Given the description of an element on the screen output the (x, y) to click on. 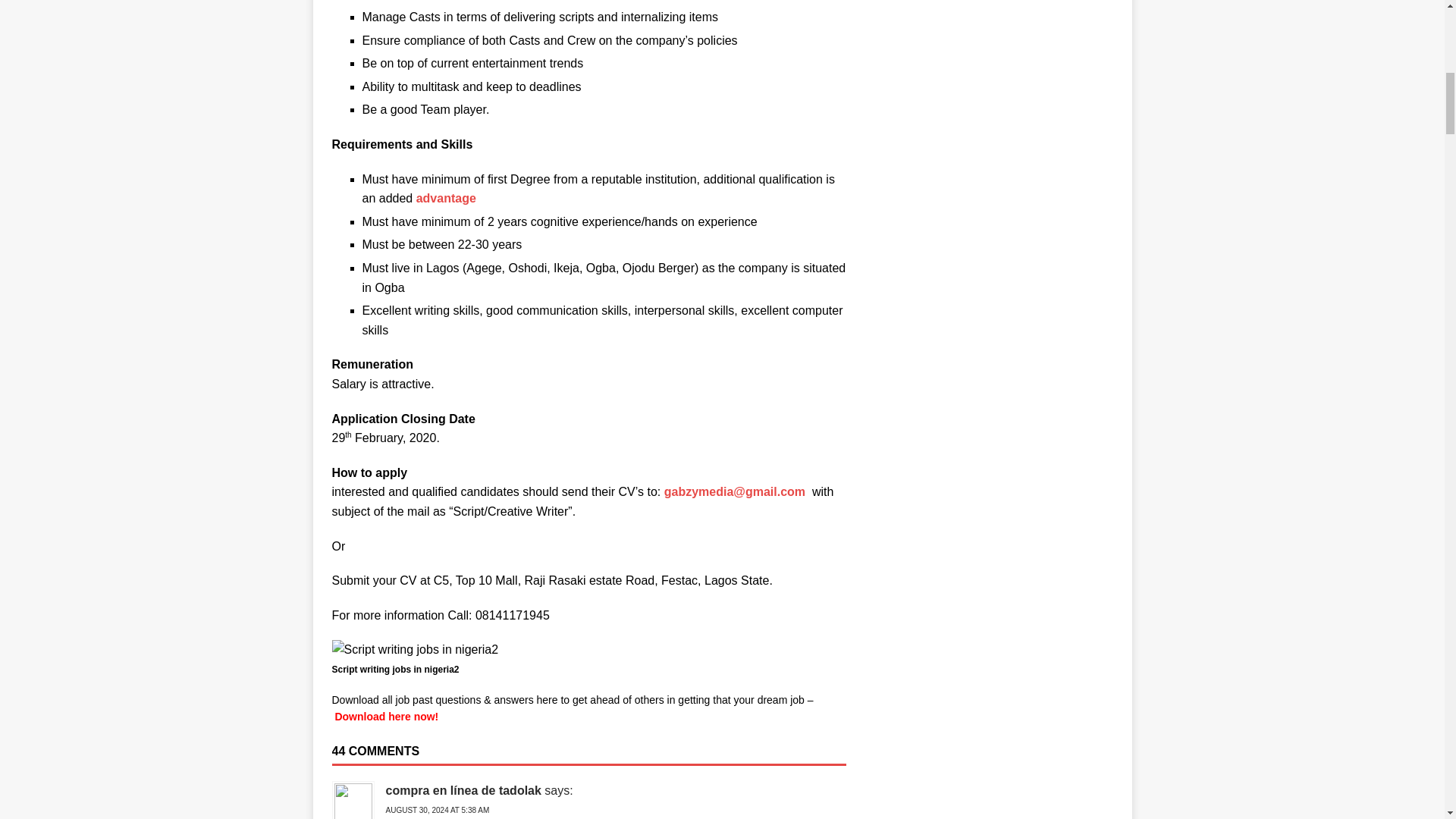
AUGUST 30, 2024 AT 5:38 AM (437, 809)
Script writing jobs in nigeria2 (415, 649)
Download here now! (386, 716)
advantage (446, 197)
